Given the description of an element on the screen output the (x, y) to click on. 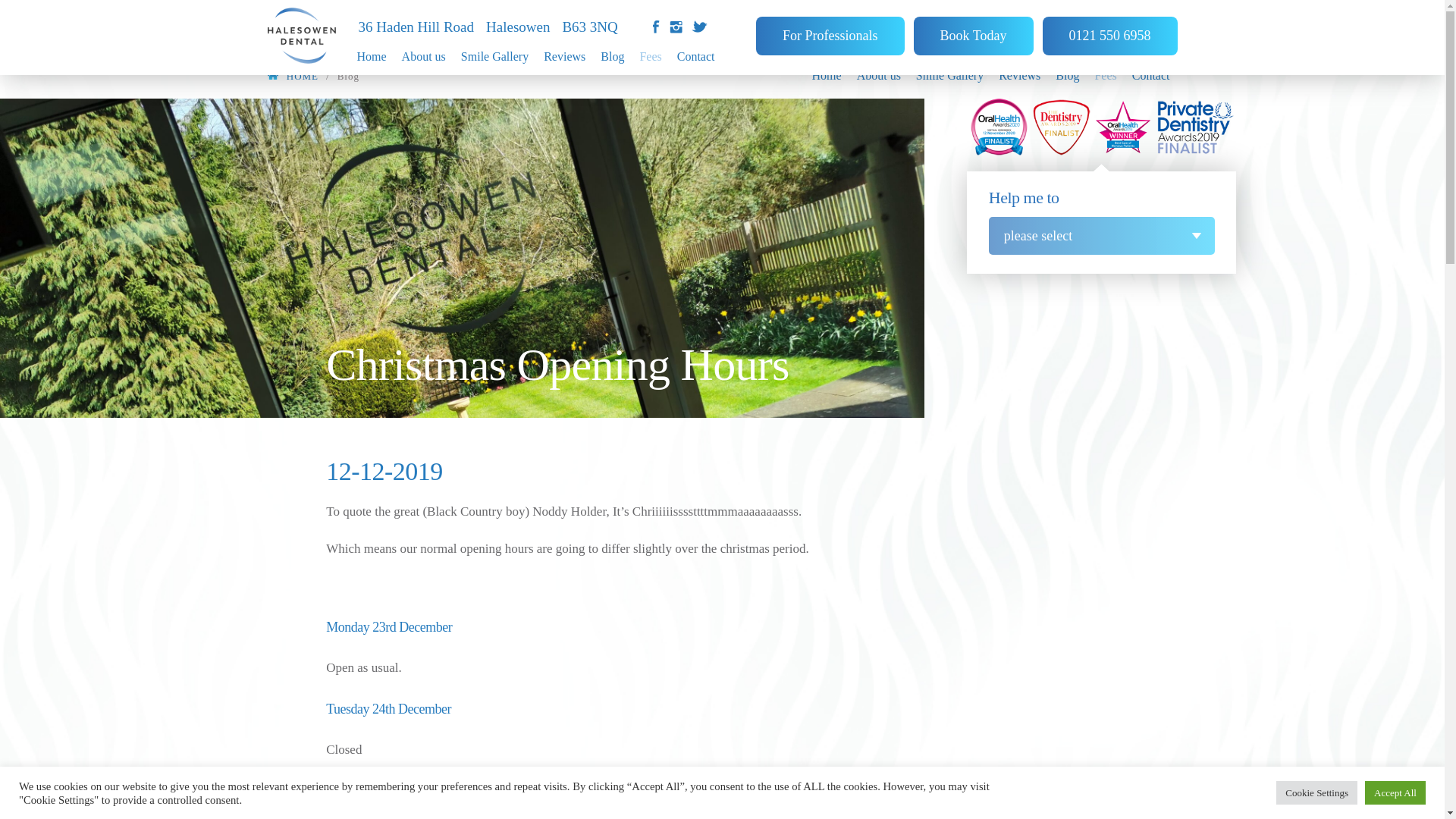
Home (371, 50)
For Professionals (829, 23)
Contact (695, 56)
About us (423, 53)
Book Today (973, 25)
0121 550 6958 (1109, 28)
Fees (649, 56)
Blog (611, 56)
Reviews (563, 56)
Smile Gallery (493, 56)
